Given the description of an element on the screen output the (x, y) to click on. 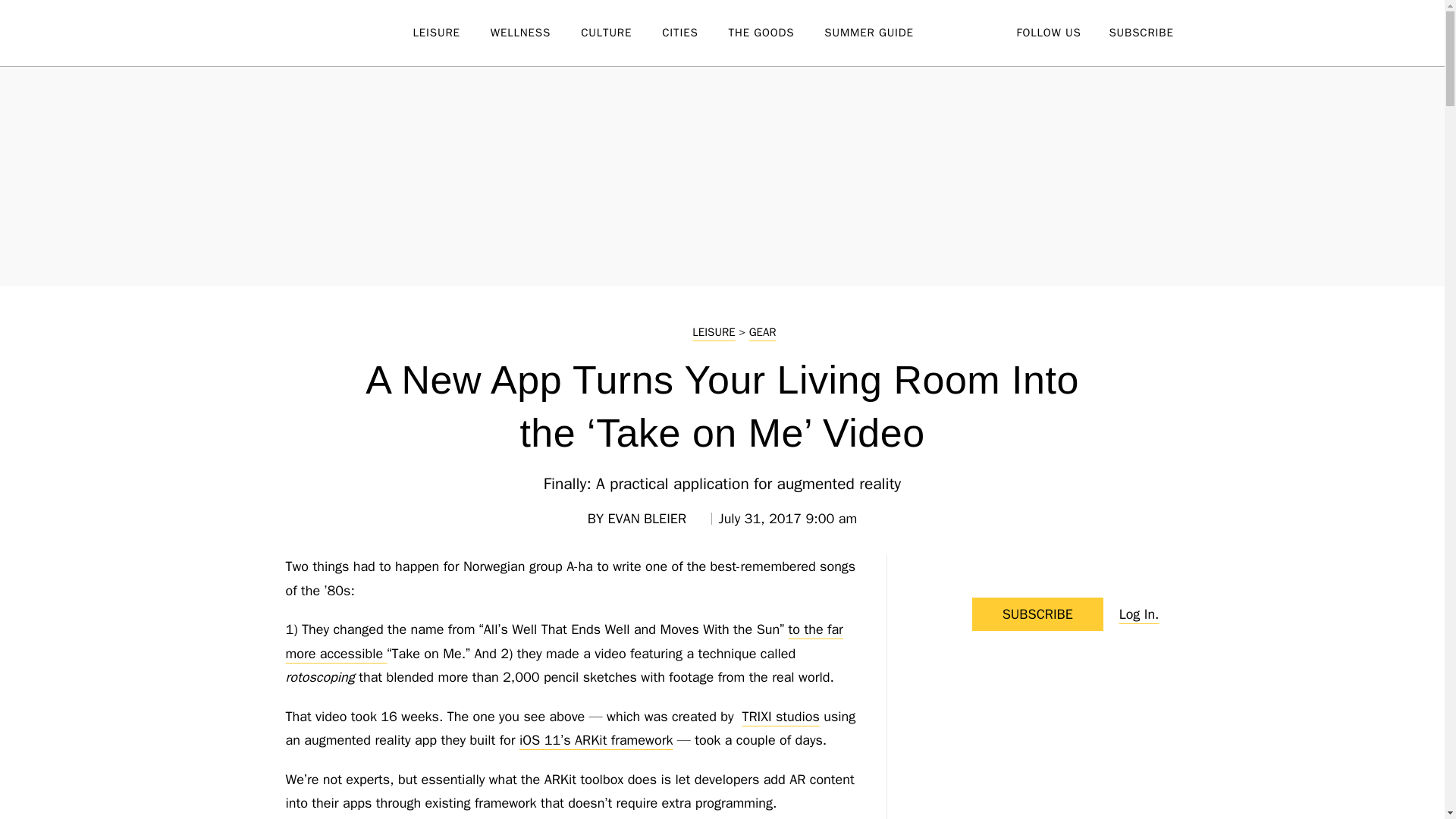
FOLLOW US (1048, 32)
SUBSCRIBE (1140, 32)
SUMMER GUIDE (883, 32)
CULTURE (621, 32)
WELLNESS (535, 32)
THE GOODS (777, 32)
CITIES (695, 32)
LEISURE (450, 32)
